Given the description of an element on the screen output the (x, y) to click on. 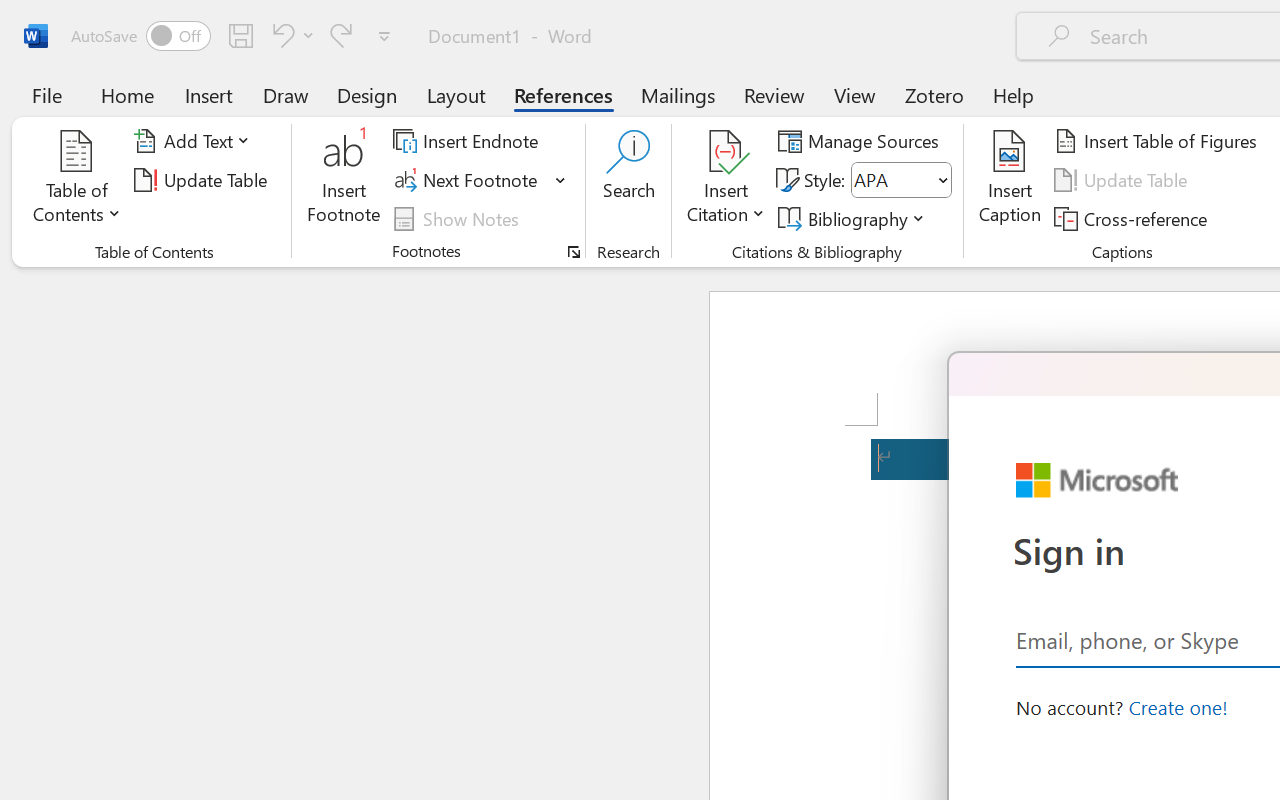
Search (628, 179)
Cross-reference... (1133, 218)
Update Table (1124, 179)
Next Footnote (479, 179)
Insert Footnote (344, 179)
Footnote and Endnote Dialog... (573, 252)
Update Table... (204, 179)
Show Notes (459, 218)
